Given the description of an element on the screen output the (x, y) to click on. 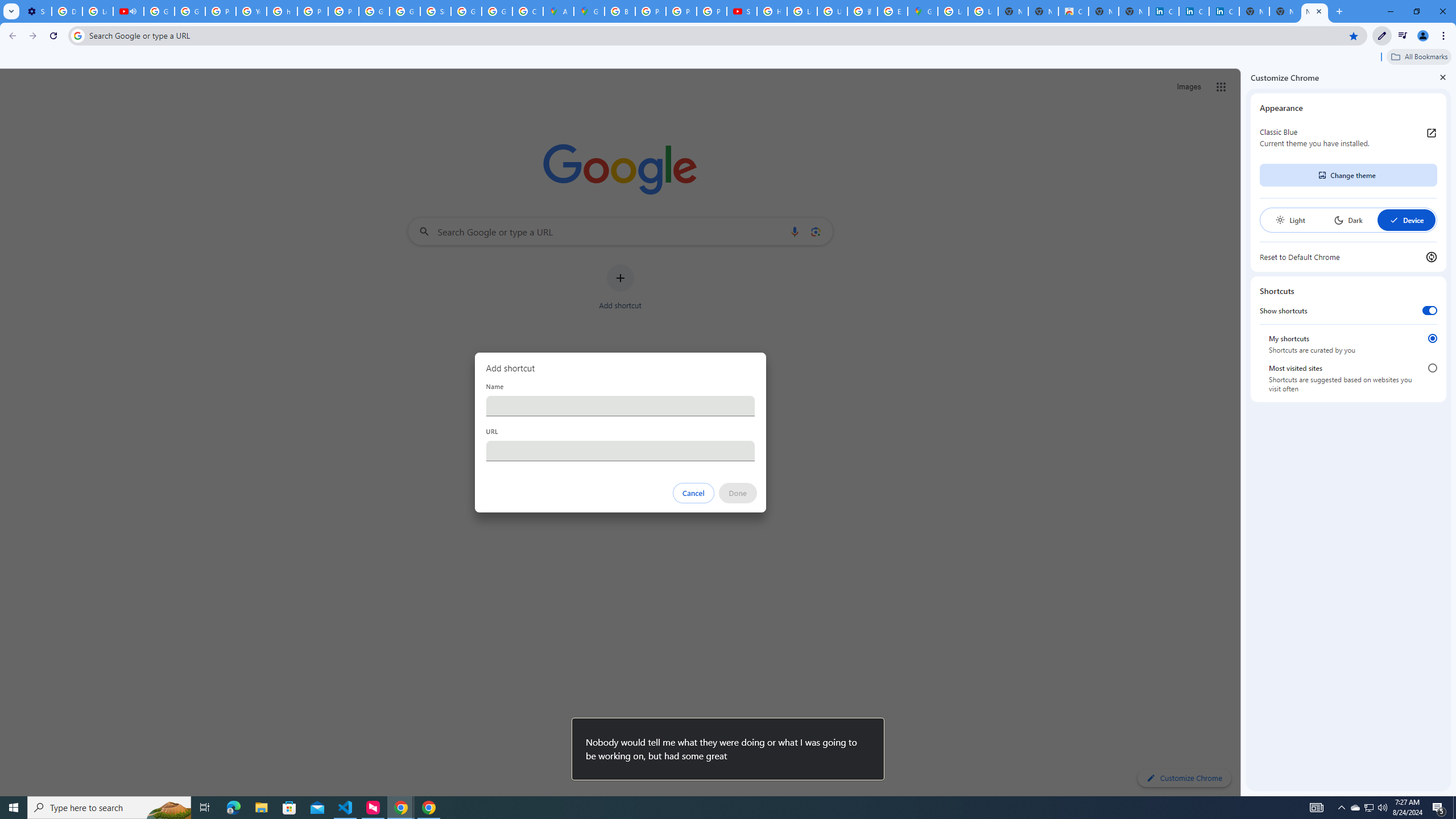
Bookmarks (728, 58)
Create your Google Account (527, 11)
My shortcuts (1432, 338)
Privacy Help Center - Policies Help (650, 11)
Dark (1348, 219)
Reset to Default Chrome (1347, 256)
Chrome Web Store (1072, 11)
Settings - Customize profile (36, 11)
YouTube (251, 11)
Side Panel Resize Handle (1242, 431)
